Given the description of an element on the screen output the (x, y) to click on. 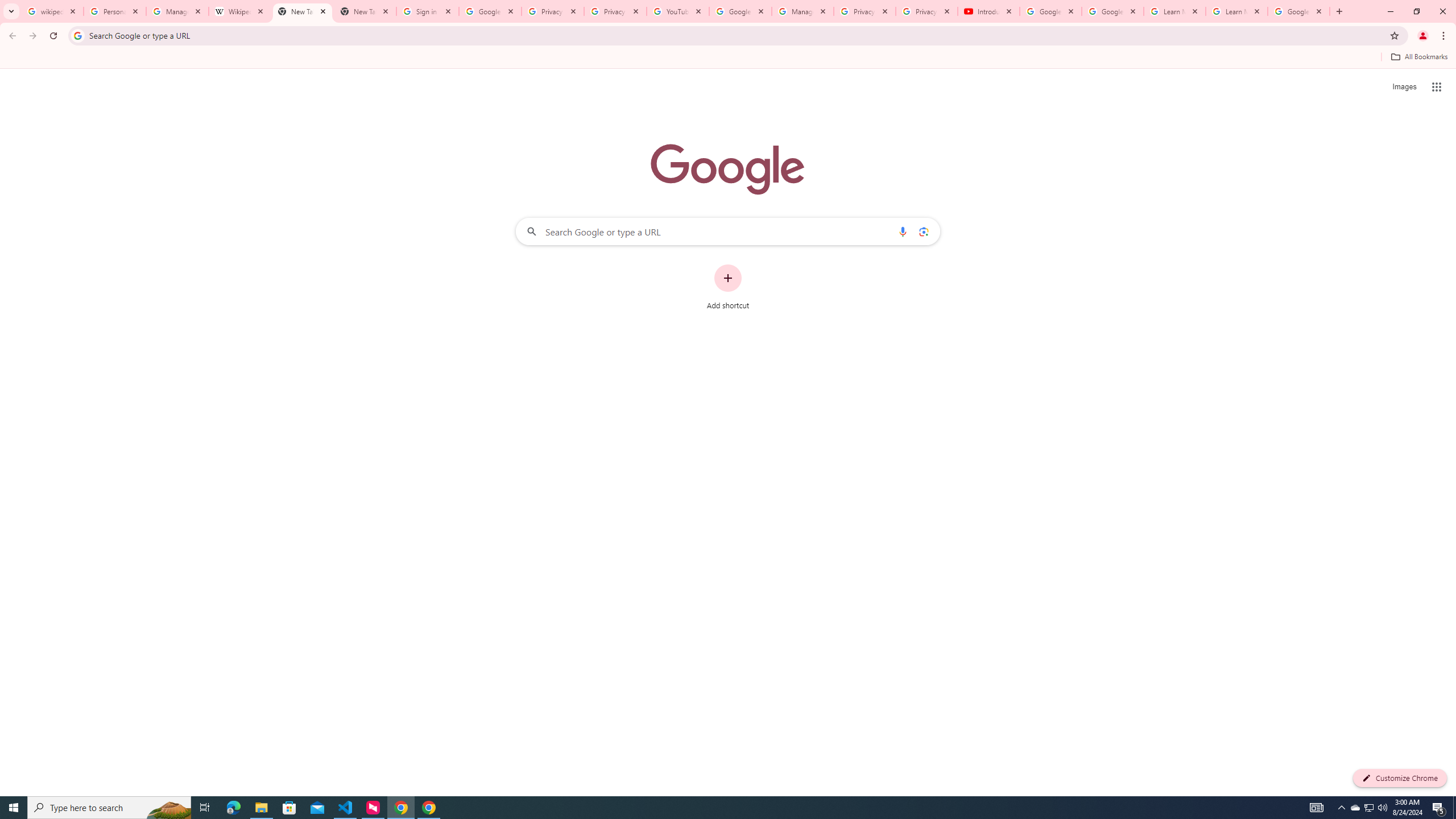
YouTube (678, 11)
Search by voice (902, 230)
New Tab (365, 11)
Google Account Help (740, 11)
Bookmarks (728, 58)
Google Drive: Sign-in (490, 11)
Add shortcut (727, 287)
